Given the description of an element on the screen output the (x, y) to click on. 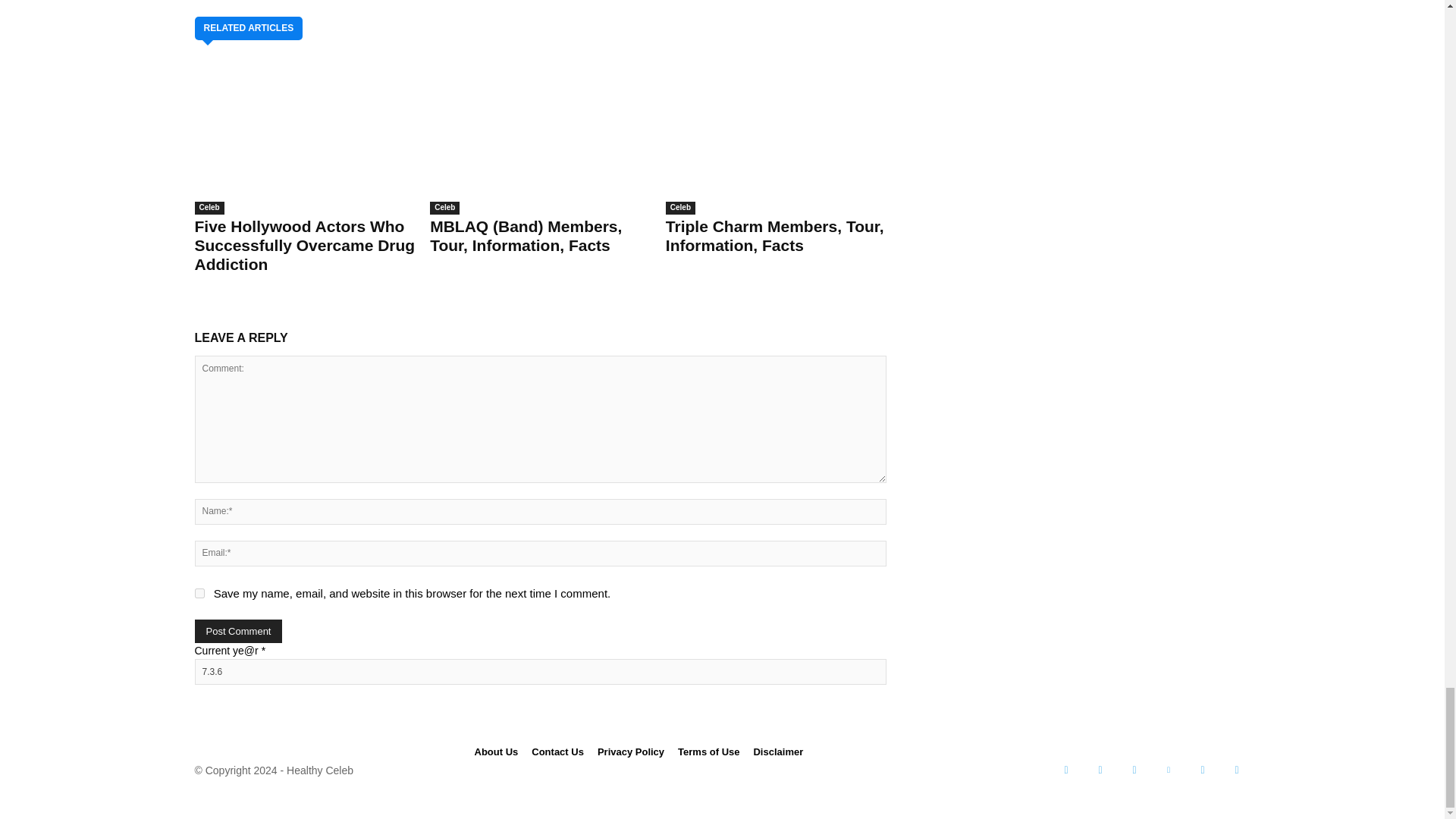
Post Comment (237, 630)
yes (198, 593)
7.3.6 (539, 671)
